Given the description of an element on the screen output the (x, y) to click on. 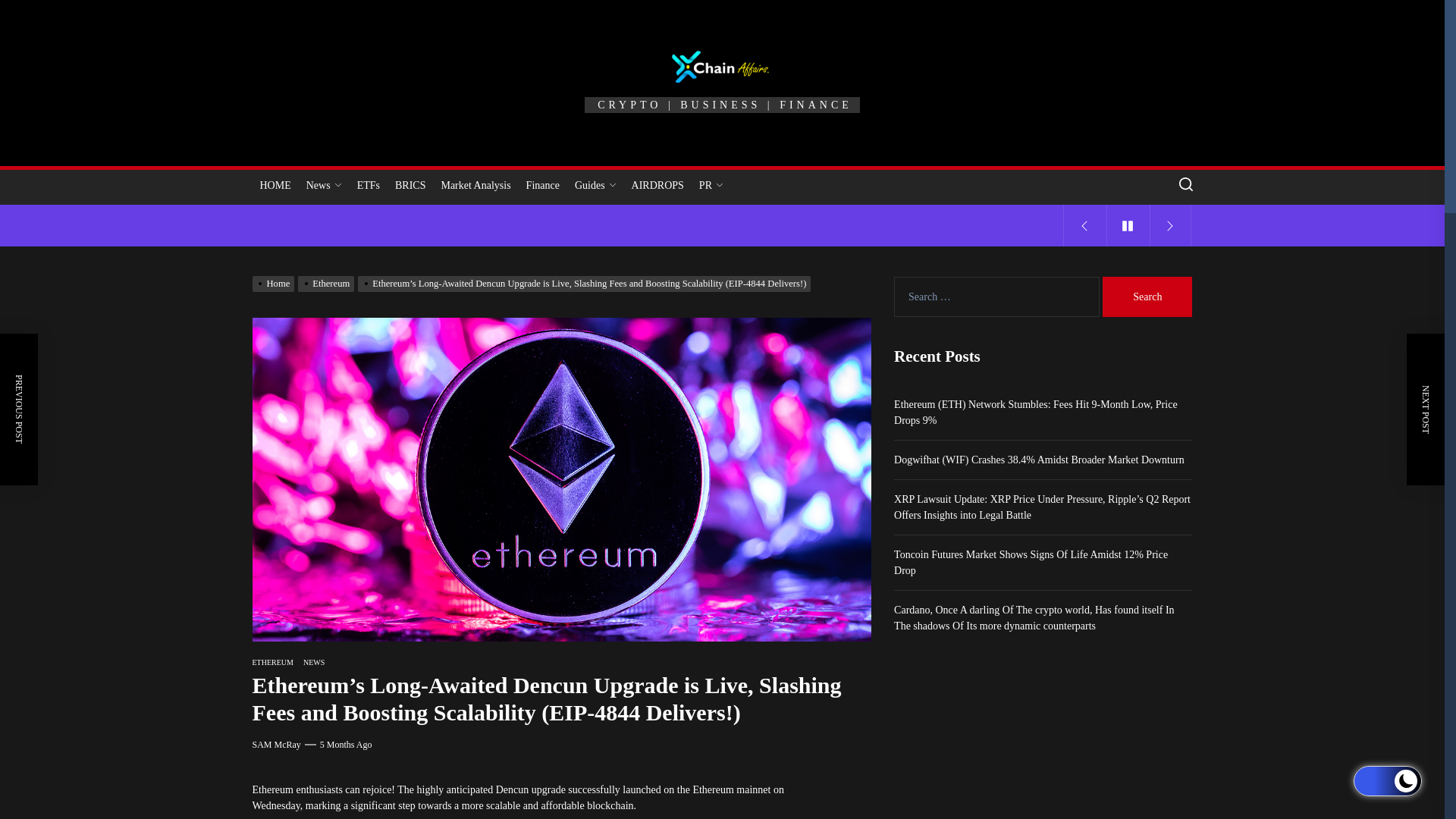
Home (274, 283)
Chain Affairs (772, 130)
BRICS (409, 185)
AIRDROPS (657, 185)
ETFs (368, 185)
Guides (595, 185)
PR (710, 185)
Ethereum (328, 283)
Market Analysis (475, 185)
HOME (274, 185)
